Given the description of an element on the screen output the (x, y) to click on. 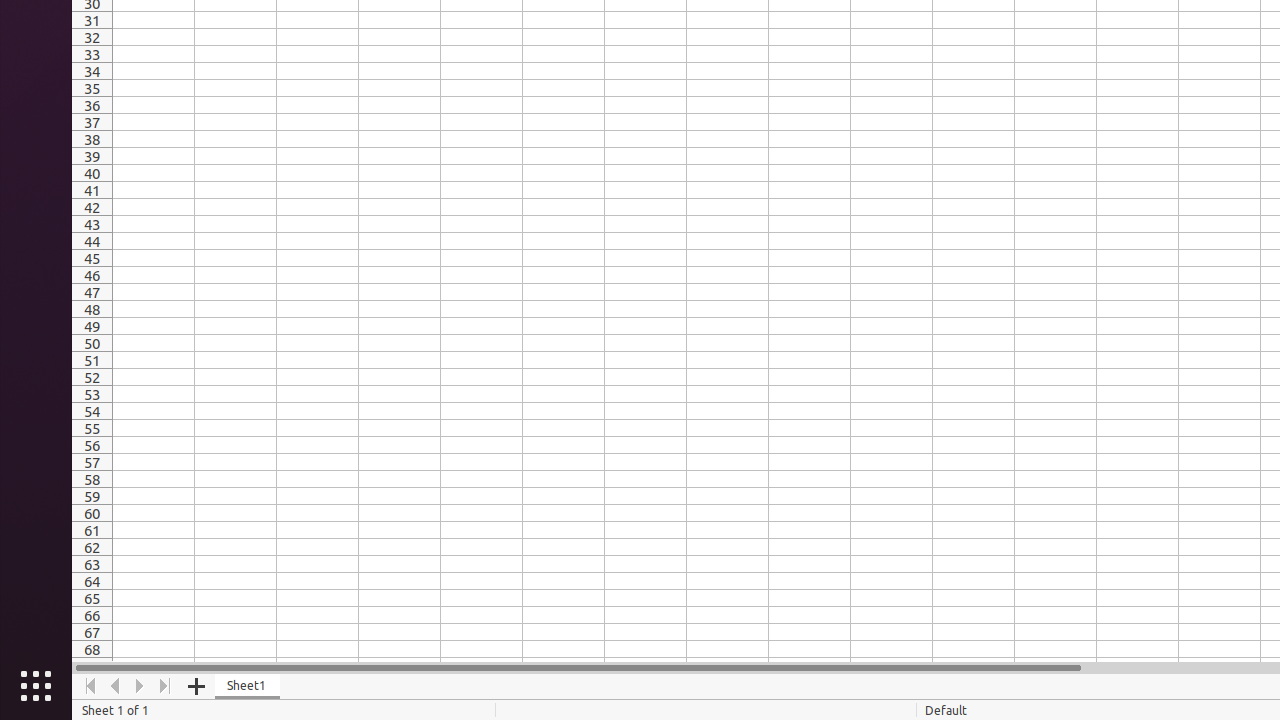
Move To Home Element type: push-button (90, 686)
